Given the description of an element on the screen output the (x, y) to click on. 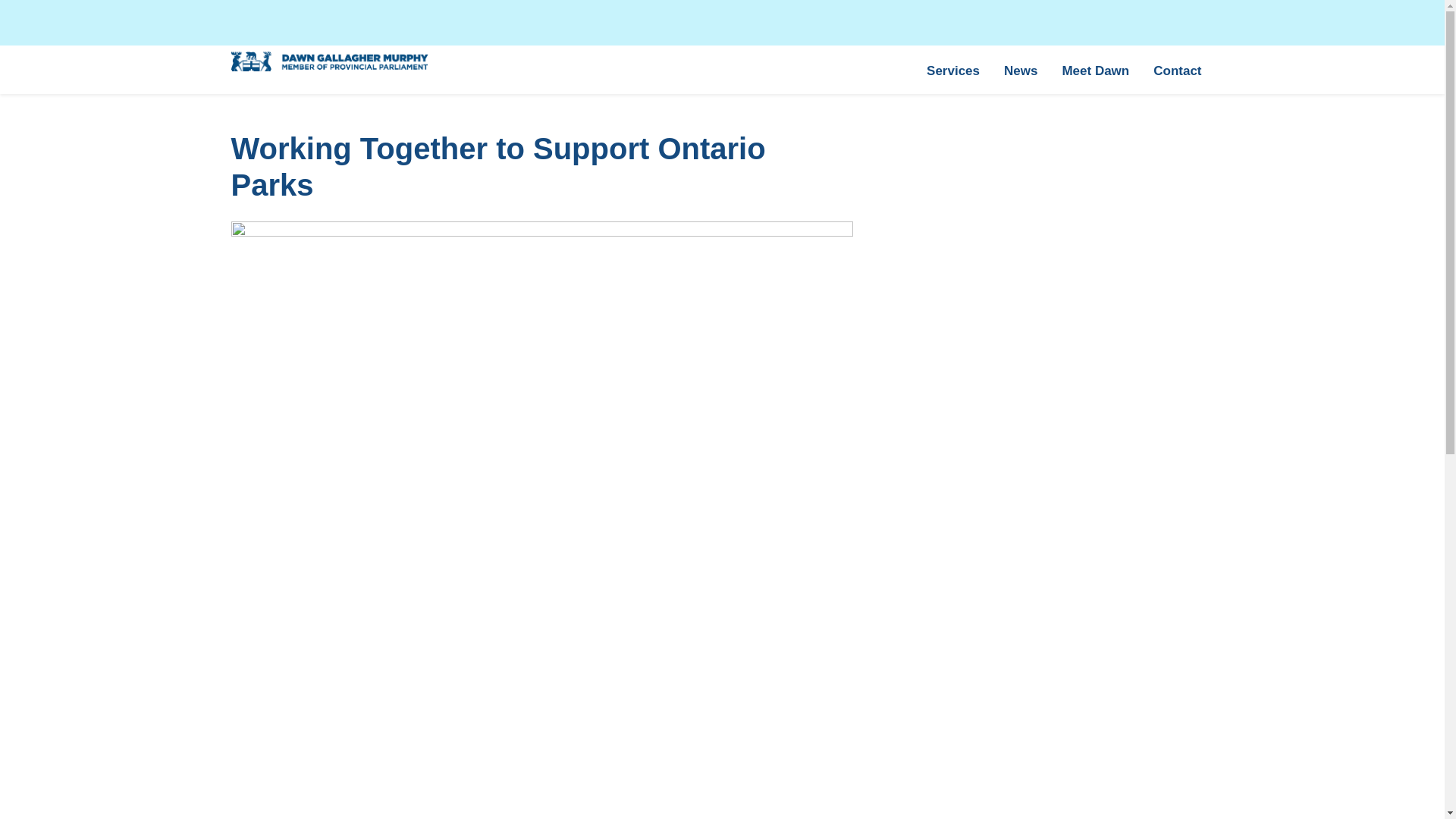
Services (952, 69)
News (1020, 69)
Meet Dawn (1095, 69)
Contact (1176, 69)
